Given the description of an element on the screen output the (x, y) to click on. 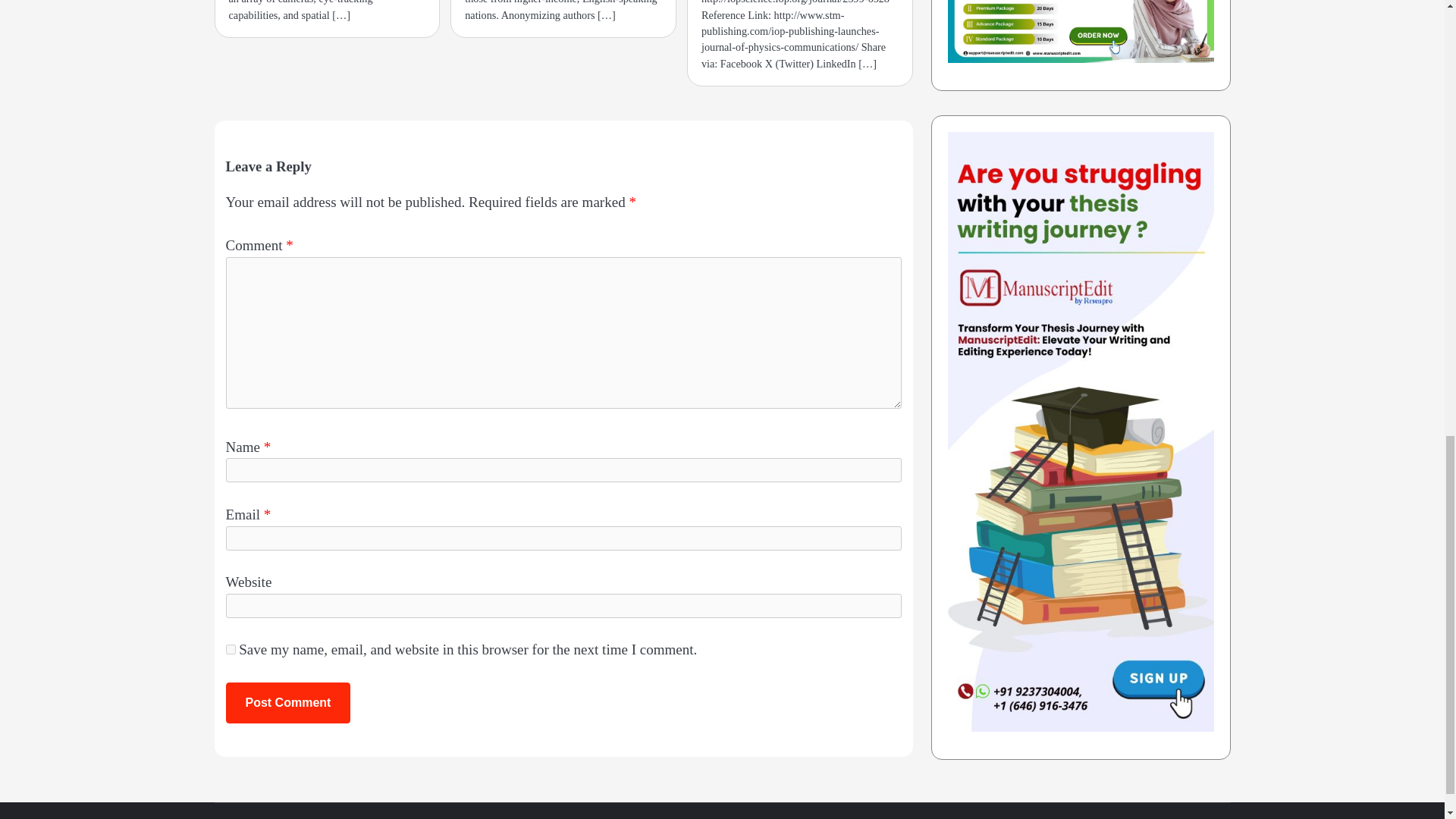
Post Comment (287, 702)
yes (230, 649)
